Given the description of an element on the screen output the (x, y) to click on. 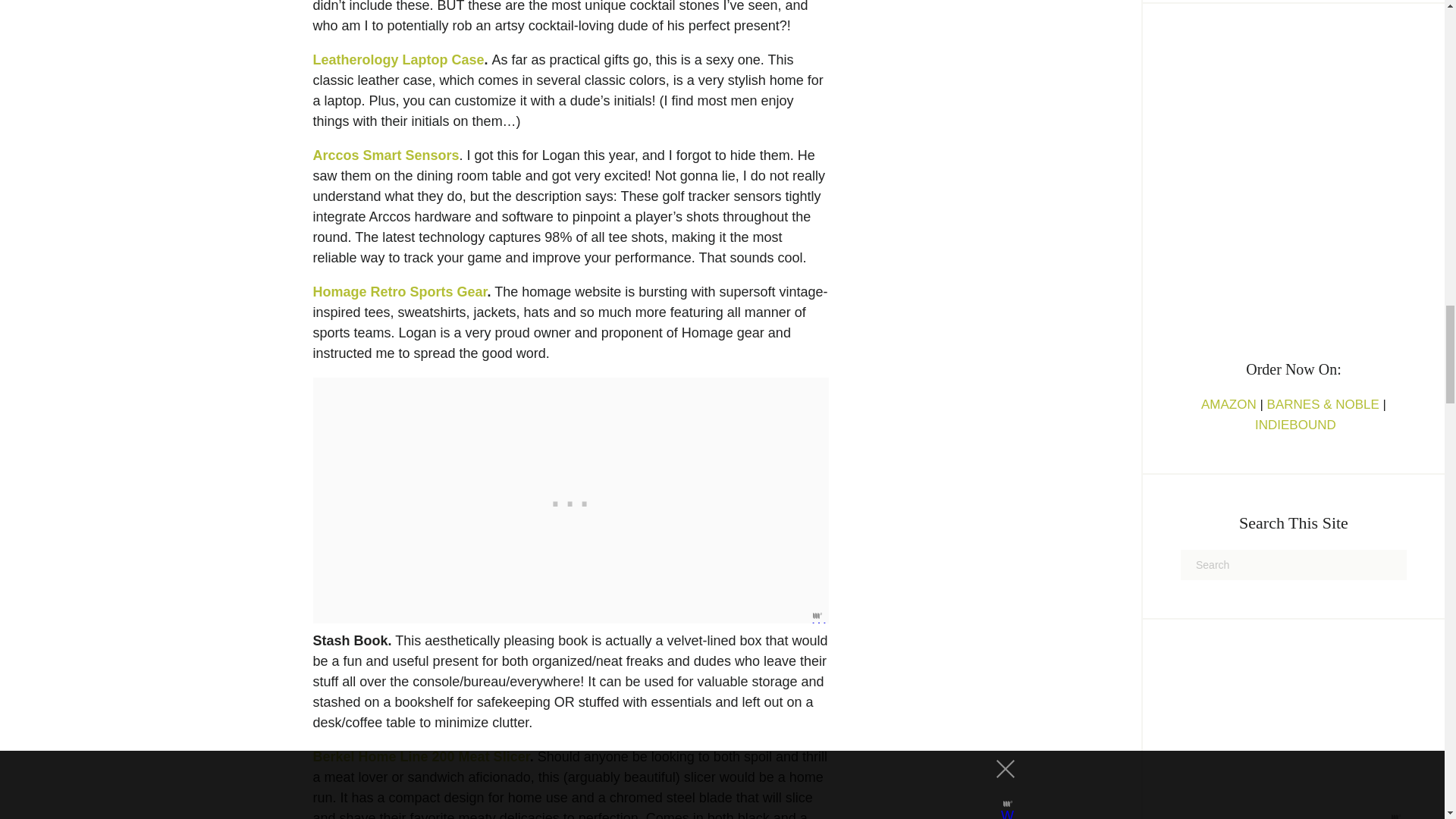
Homage Retro Sports Gear (399, 291)
3rd party ad content (1293, 714)
Type and press Enter to search. (1293, 564)
Berkel Home Line 200 Meat Slicer (421, 756)
3rd party ad content (570, 500)
Leatherology Laptop Case (398, 59)
Arccos Smart Sensors (385, 155)
